Given the description of an element on the screen output the (x, y) to click on. 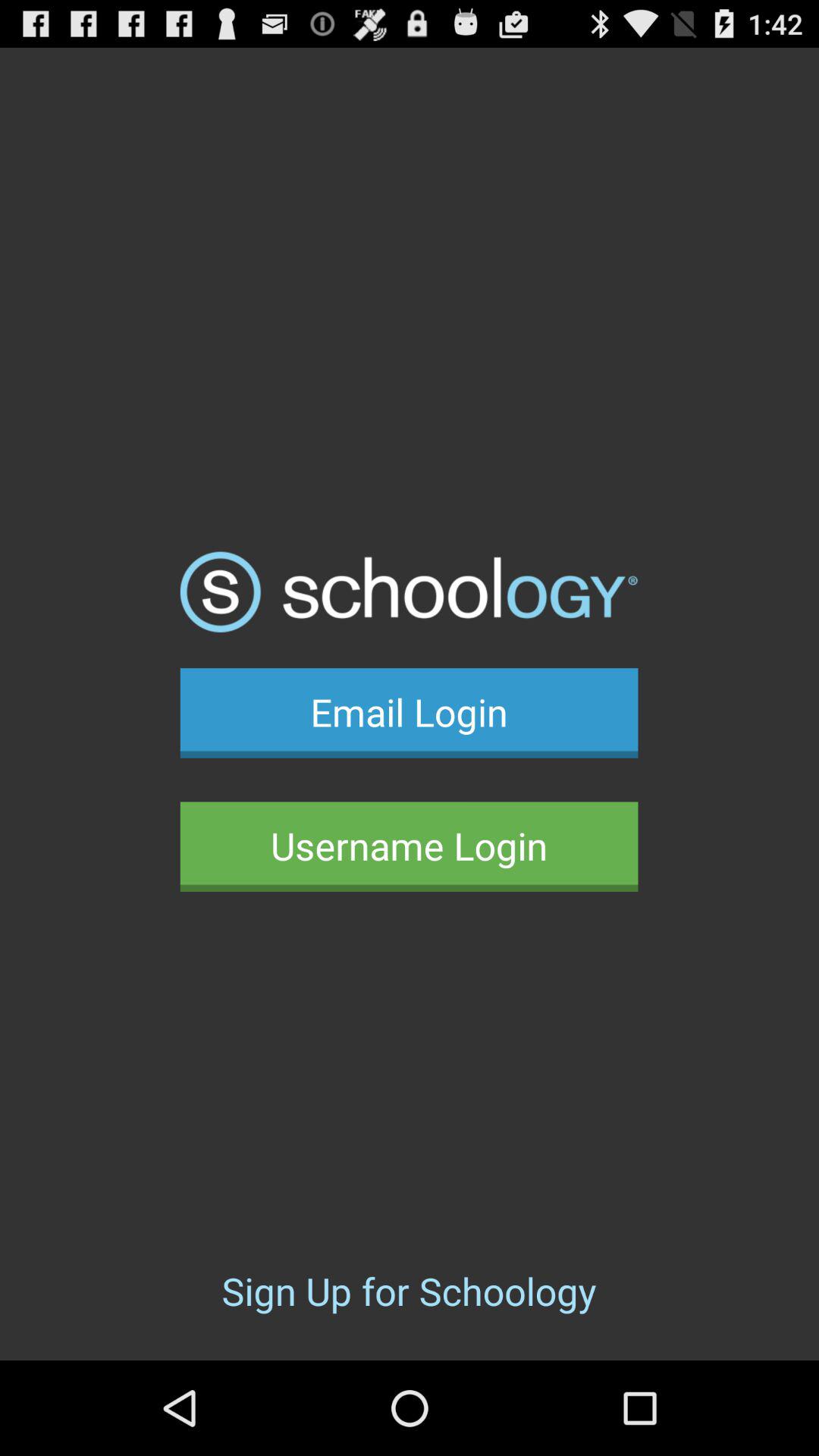
flip to email login icon (409, 713)
